Given the description of an element on the screen output the (x, y) to click on. 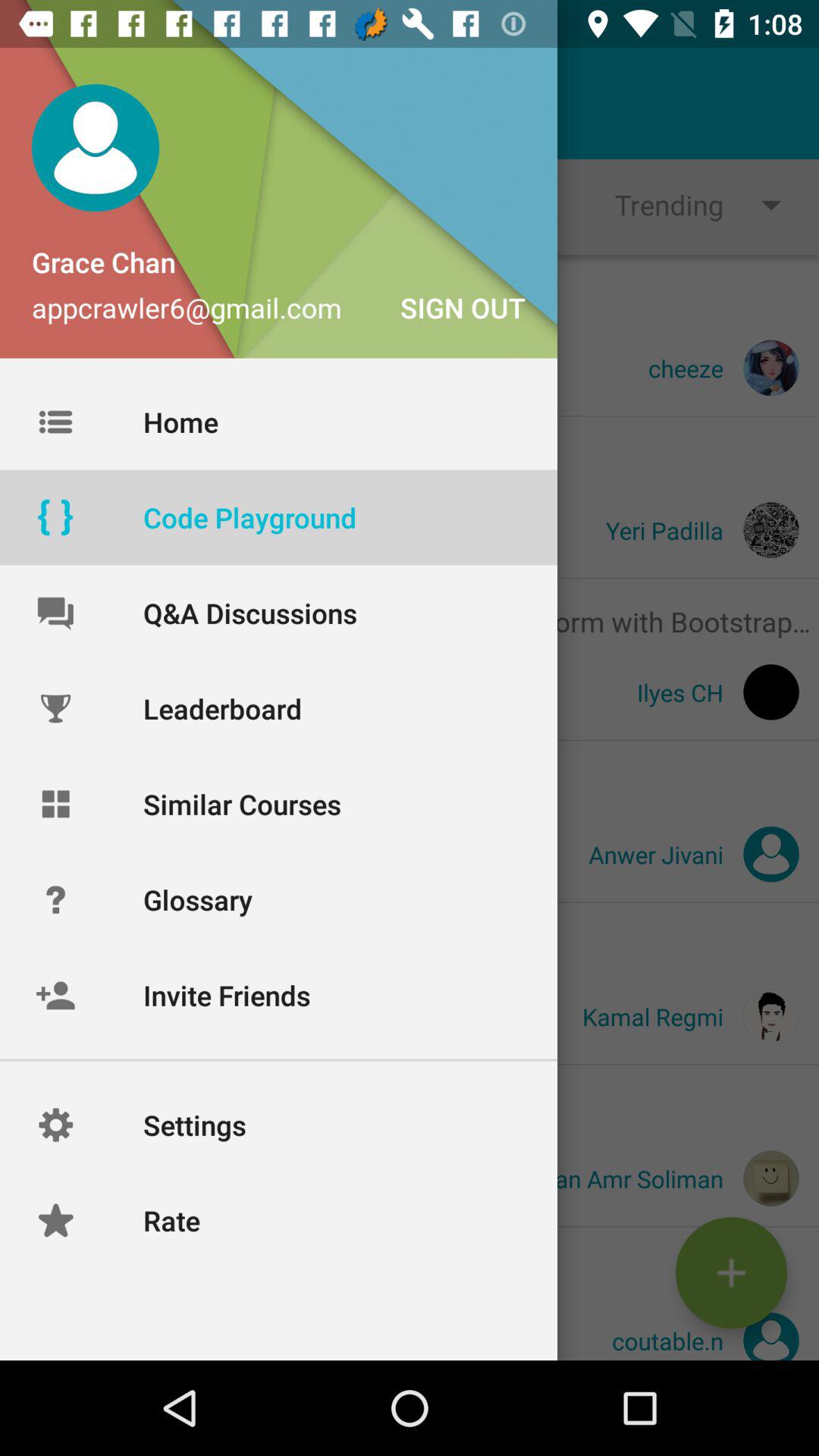
the icon shown right to yeri padilla (770, 529)
